Given the description of an element on the screen output the (x, y) to click on. 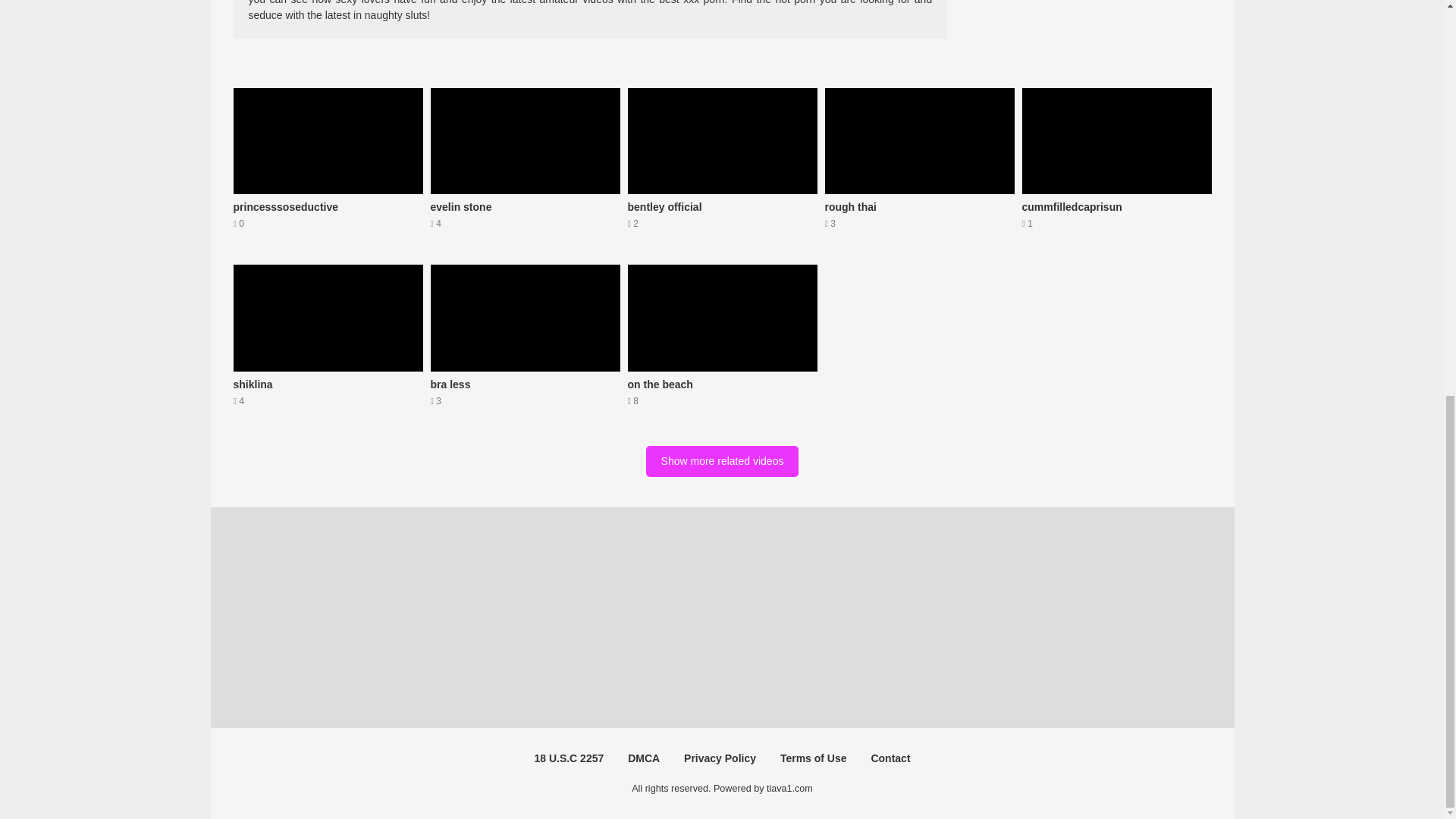
Terms of Use (813, 758)
evelin stone (525, 344)
princesssoseductive (525, 167)
bentley official (327, 167)
18 U.S.C 2257 (919, 167)
cummfilledcaprisun (721, 167)
